Given the description of an element on the screen output the (x, y) to click on. 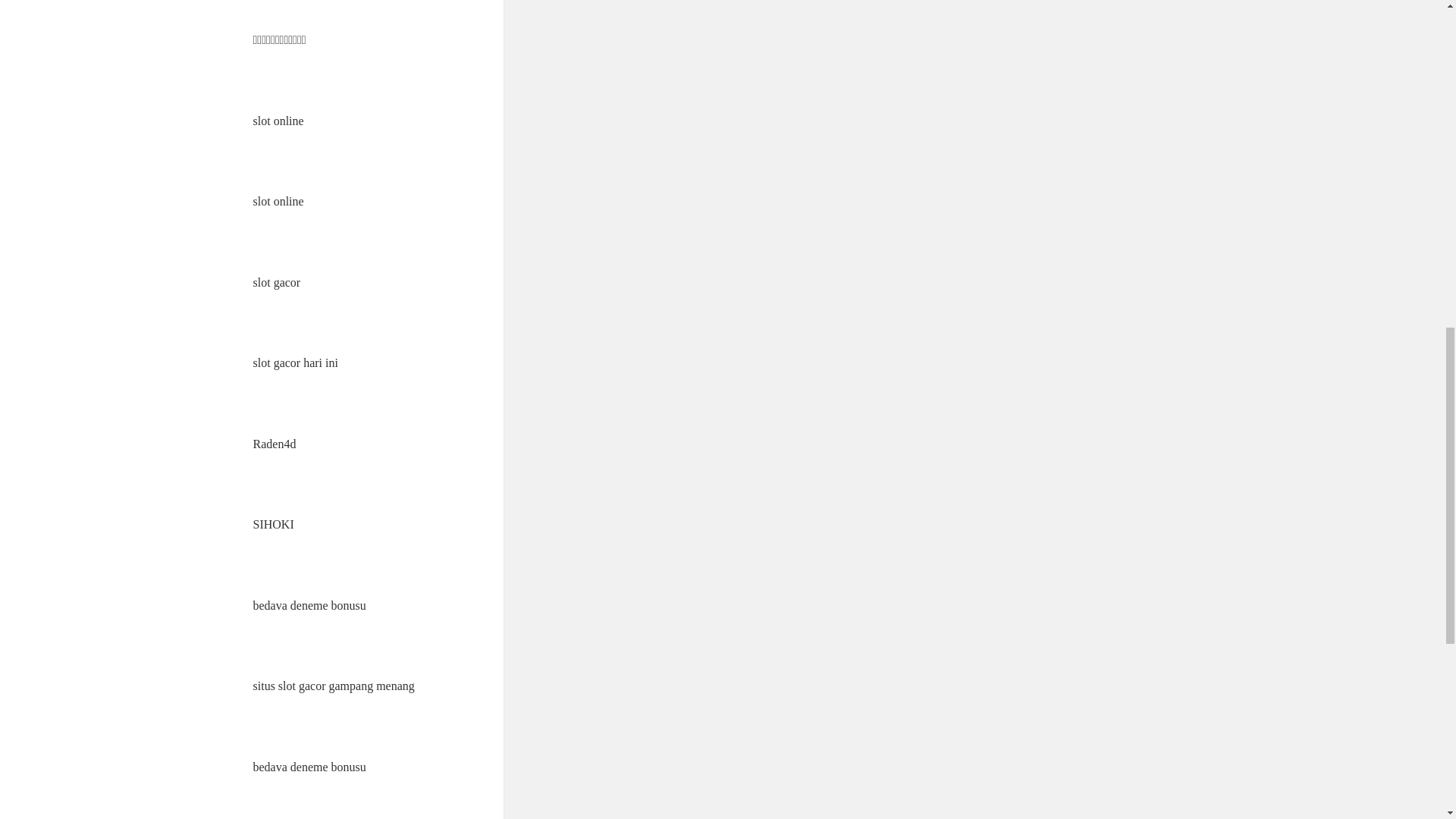
bedava deneme bonusu (309, 766)
slot gacor (277, 282)
SIHOKI (273, 523)
slot online (278, 120)
Raden4d (275, 443)
situs slot gacor gampang menang (333, 685)
slot gacor hari ini (295, 362)
slot online (278, 201)
bedava deneme bonusu (309, 604)
